Given the description of an element on the screen output the (x, y) to click on. 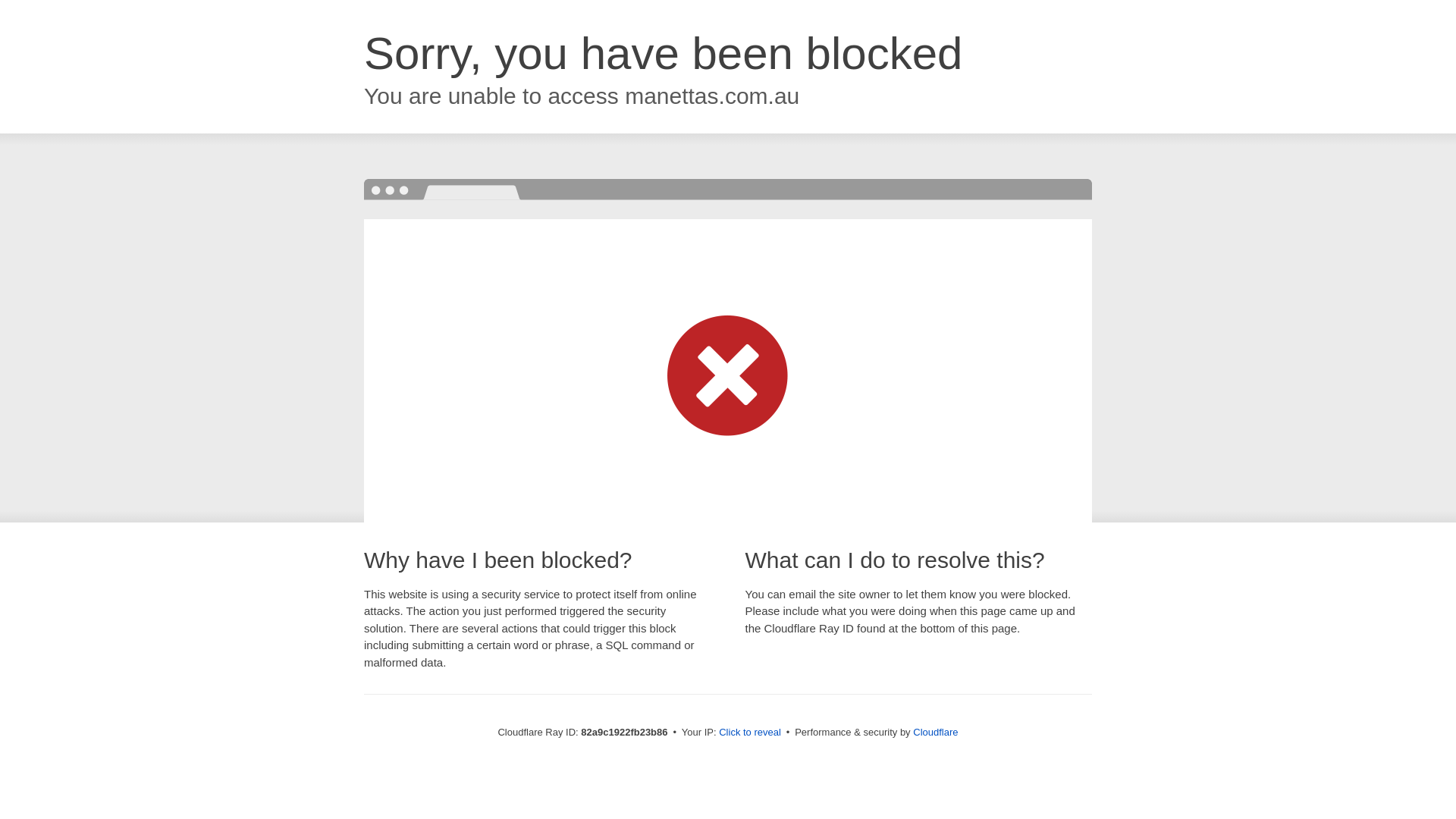
Click to reveal Element type: text (749, 732)
Cloudflare Element type: text (935, 731)
